Given the description of an element on the screen output the (x, y) to click on. 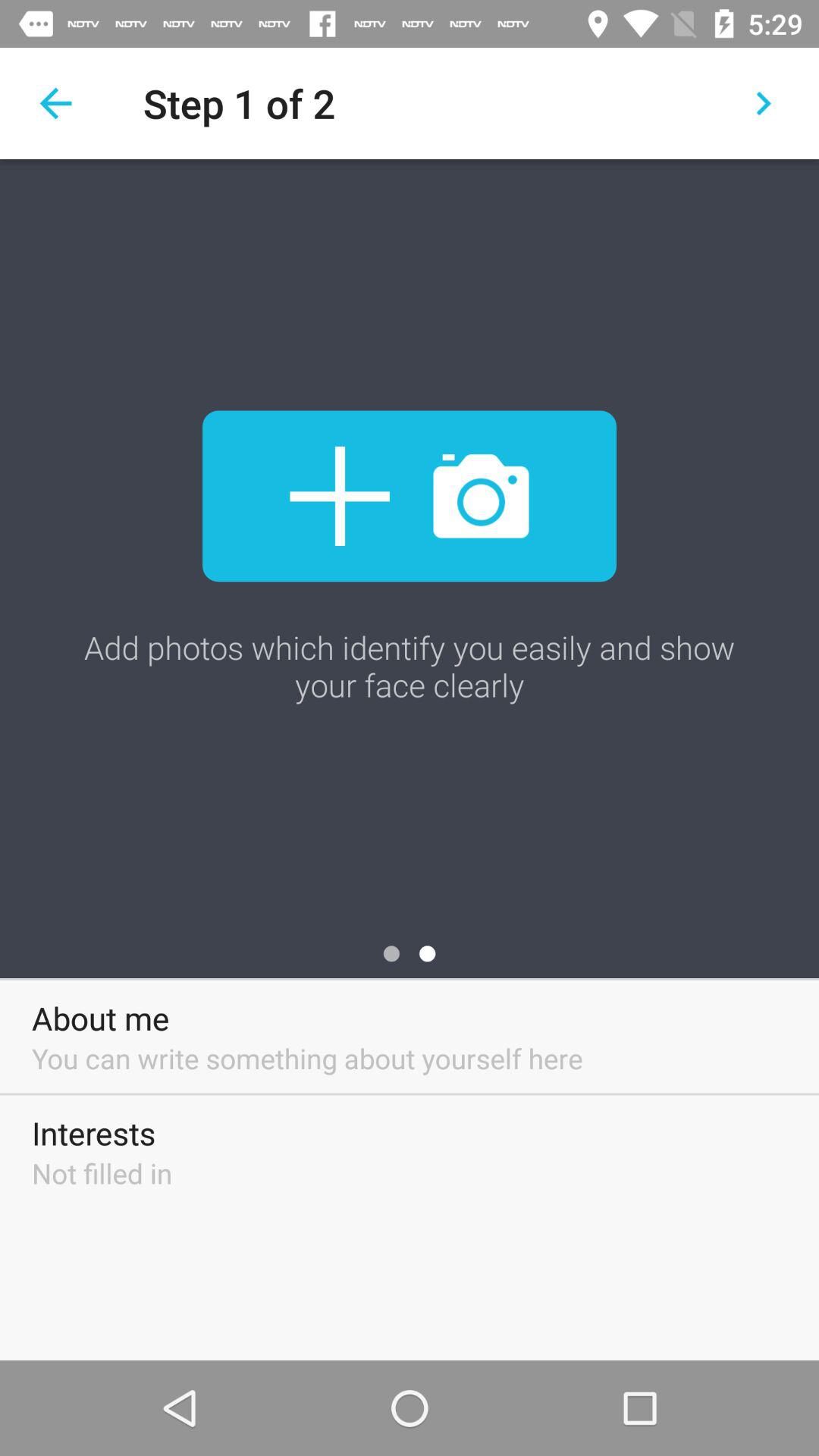
open item at the top right corner (763, 103)
